Given the description of an element on the screen output the (x, y) to click on. 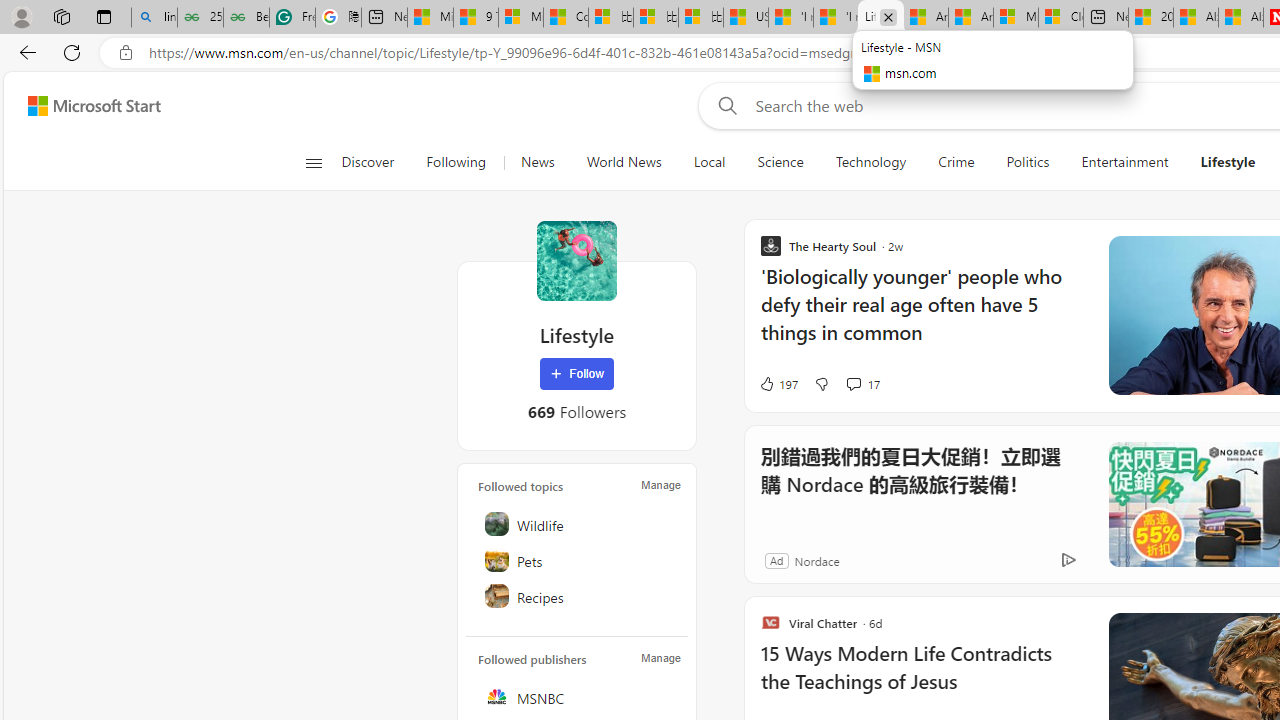
Manage (660, 657)
Politics (1027, 162)
Discover (375, 162)
Ad (776, 560)
Local (709, 162)
News (537, 162)
Dislike (821, 384)
Cloud Computing Services | Microsoft Azure (1060, 17)
